Given the description of an element on the screen output the (x, y) to click on. 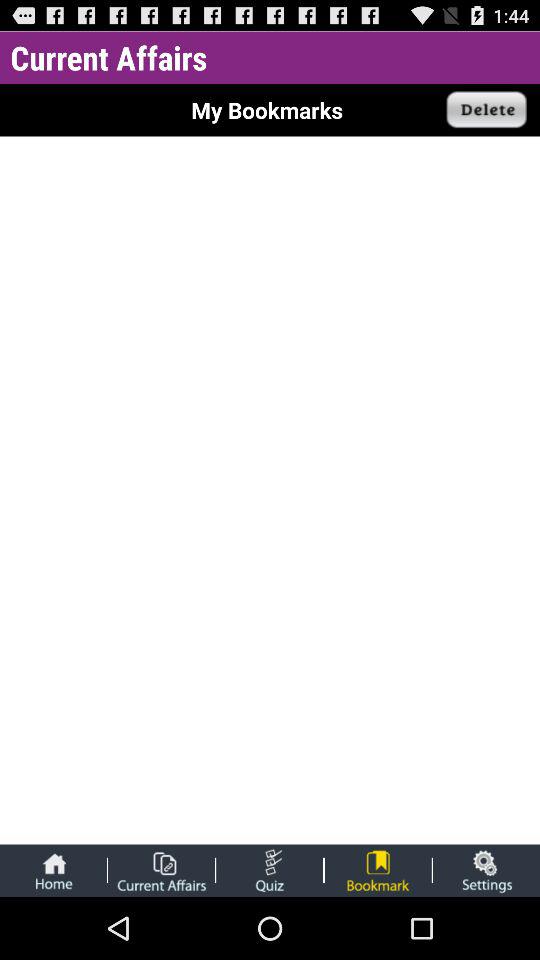
tap the item to the right of my bookmarks  icon (487, 109)
